Given the description of an element on the screen output the (x, y) to click on. 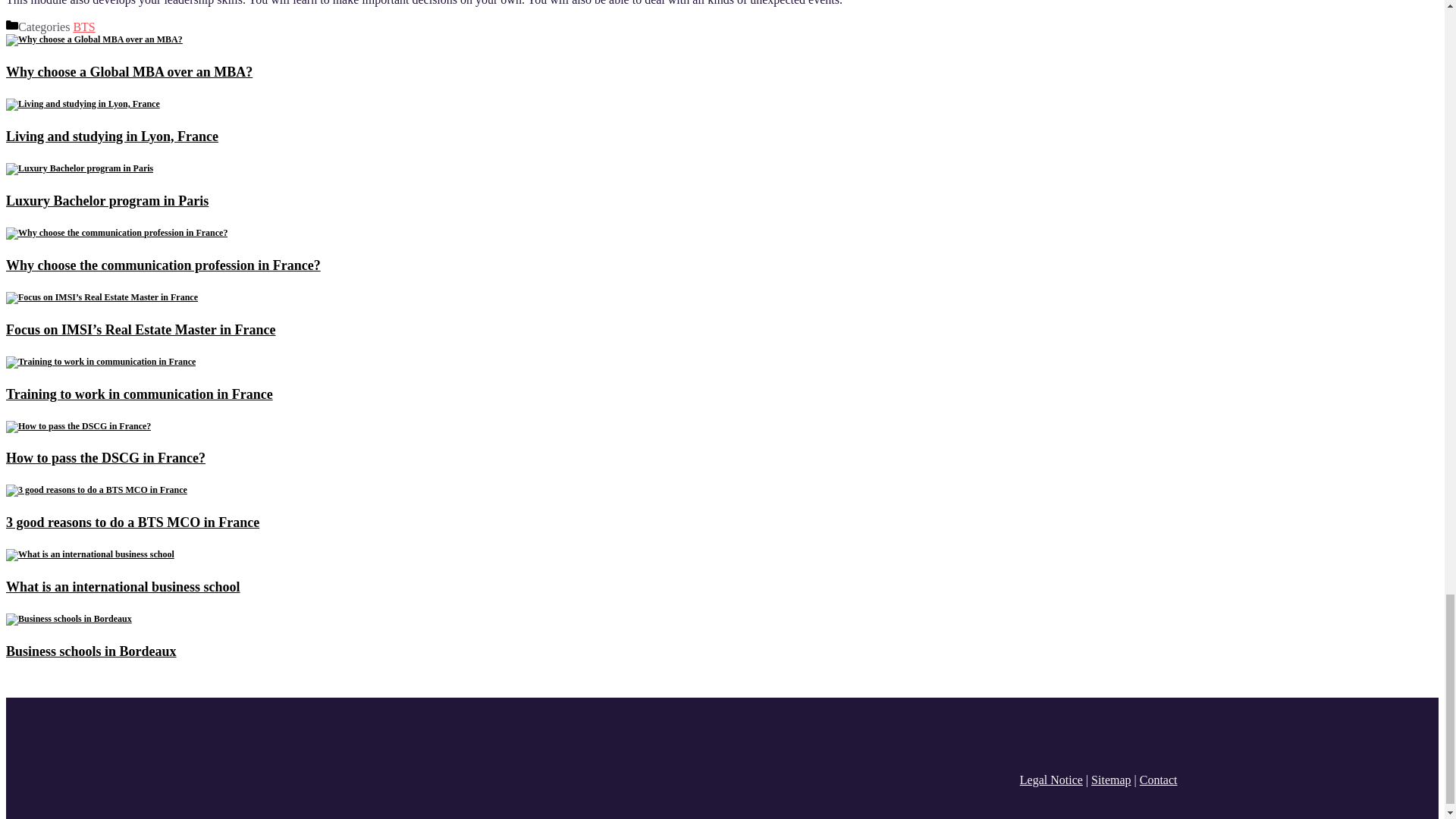
Contact (1158, 779)
Why choose a Global MBA over an MBA? (94, 39)
Why choose the communication profession in France? (116, 232)
Training to work in communication in France (139, 394)
3 good reasons to do a BTS MCO in France (132, 522)
What is an international business school (89, 553)
What is an international business school (122, 586)
Business schools in Bordeaux (68, 618)
How to pass the DSCG in France? (105, 458)
Business schools in Bordeaux (90, 651)
